Given the description of an element on the screen output the (x, y) to click on. 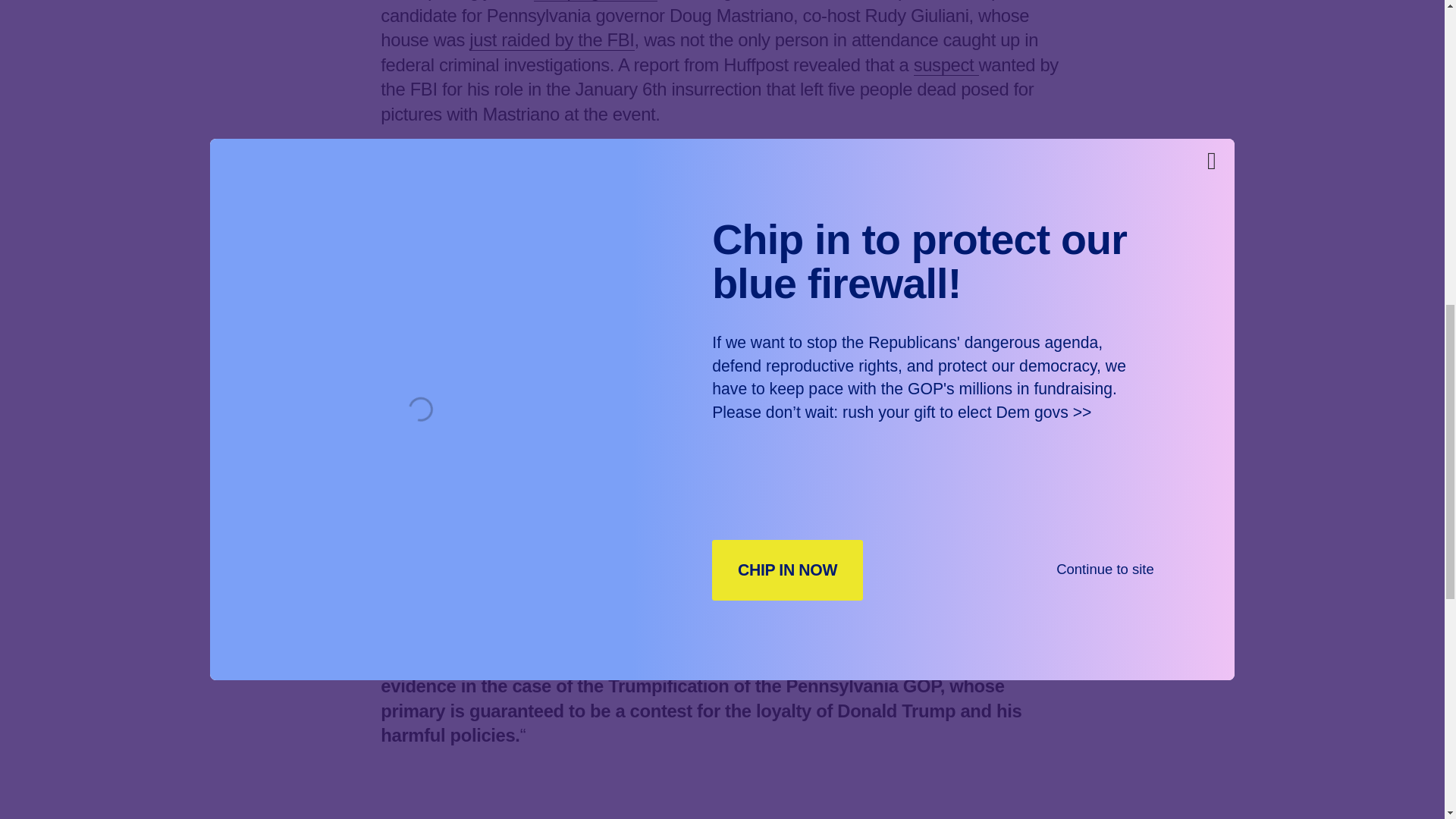
campaign paid thousands (507, 189)
Lou Barletta (503, 462)
noted before this event happened (719, 600)
Joe Gale (703, 450)
just raided by the FBI (550, 39)
suspect  (946, 64)
bragged  (764, 240)
